Given the description of an element on the screen output the (x, y) to click on. 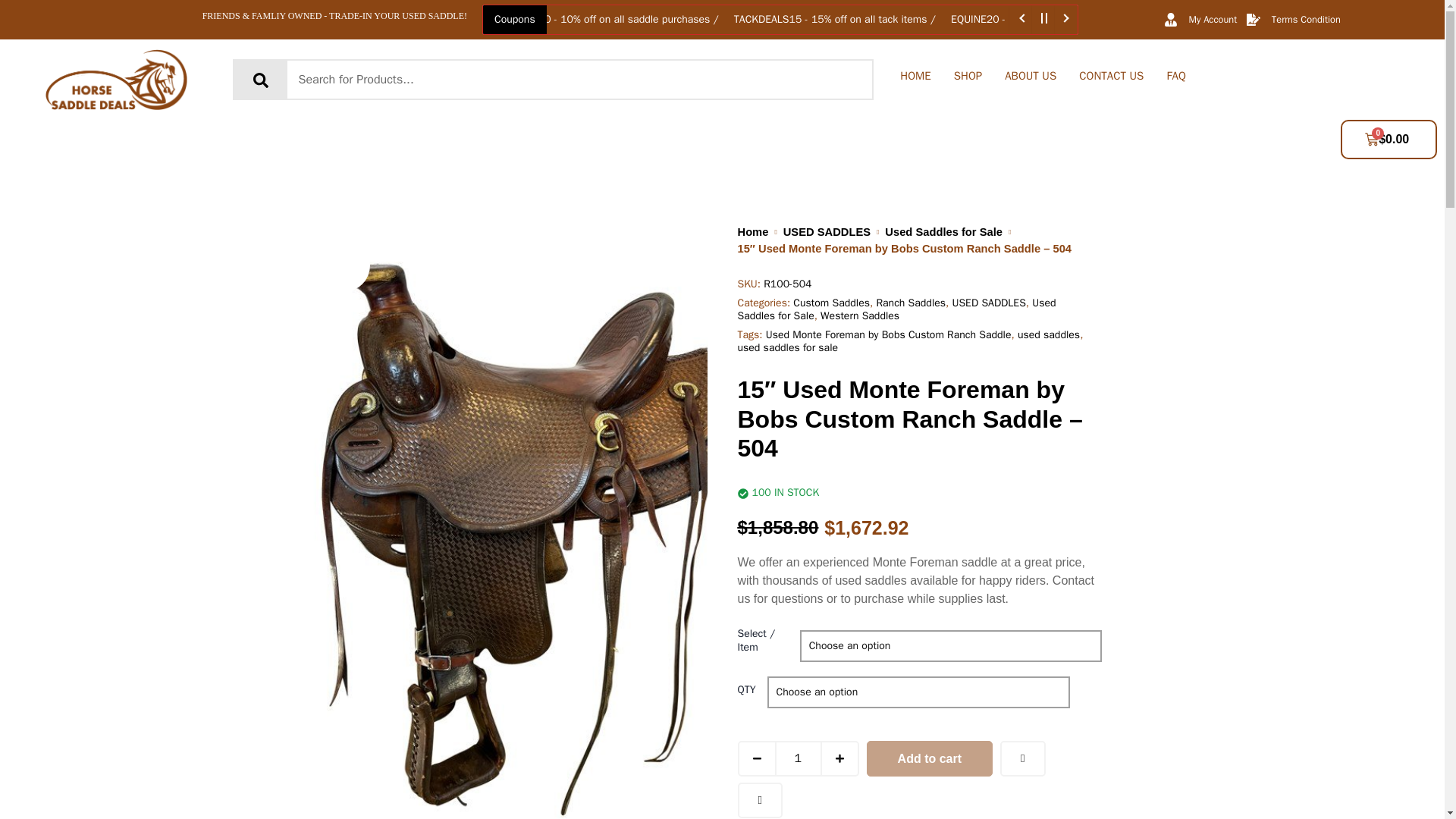
Home (752, 231)
HOME (915, 75)
ABOUT US (1029, 75)
SHOP (967, 75)
Terms Condition (1292, 19)
USED SADDLES (826, 231)
Add to Wishlist (1022, 758)
1 (798, 758)
FAQ (1175, 75)
My Account (1199, 19)
